Given the description of an element on the screen output the (x, y) to click on. 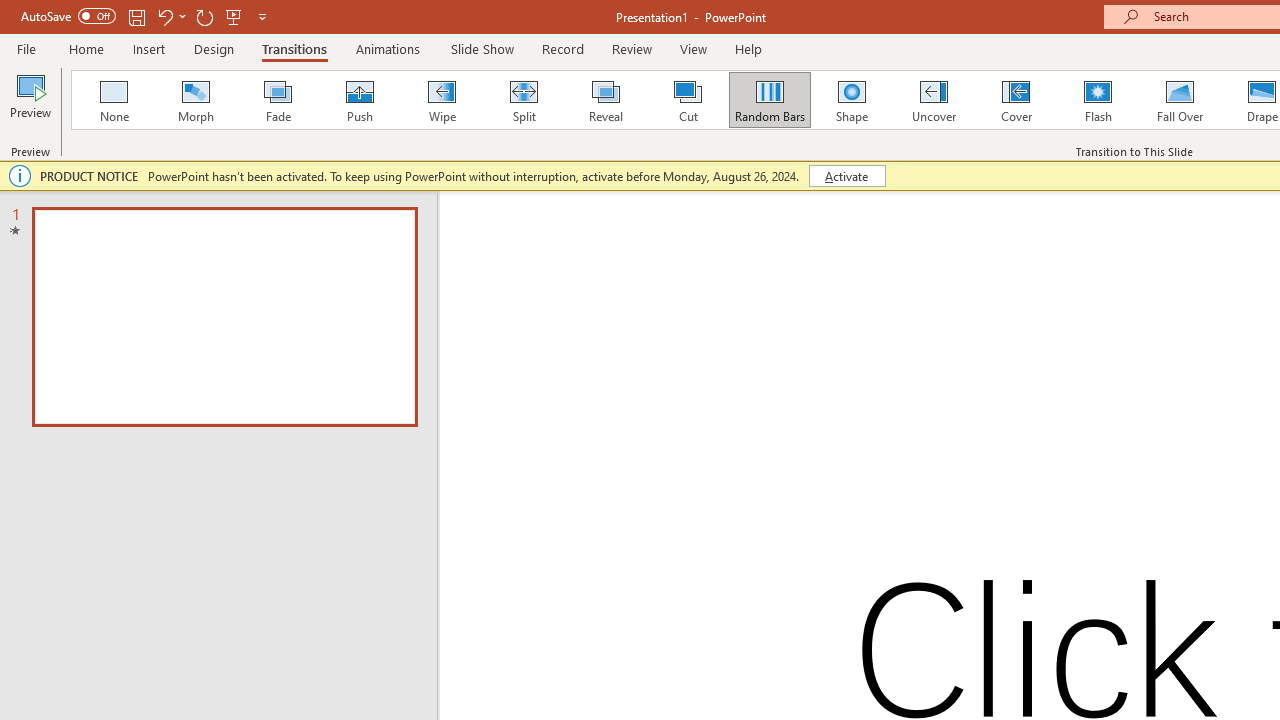
Shape (852, 100)
Push (359, 100)
Fade (277, 100)
Flash (1098, 100)
